Given the description of an element on the screen output the (x, y) to click on. 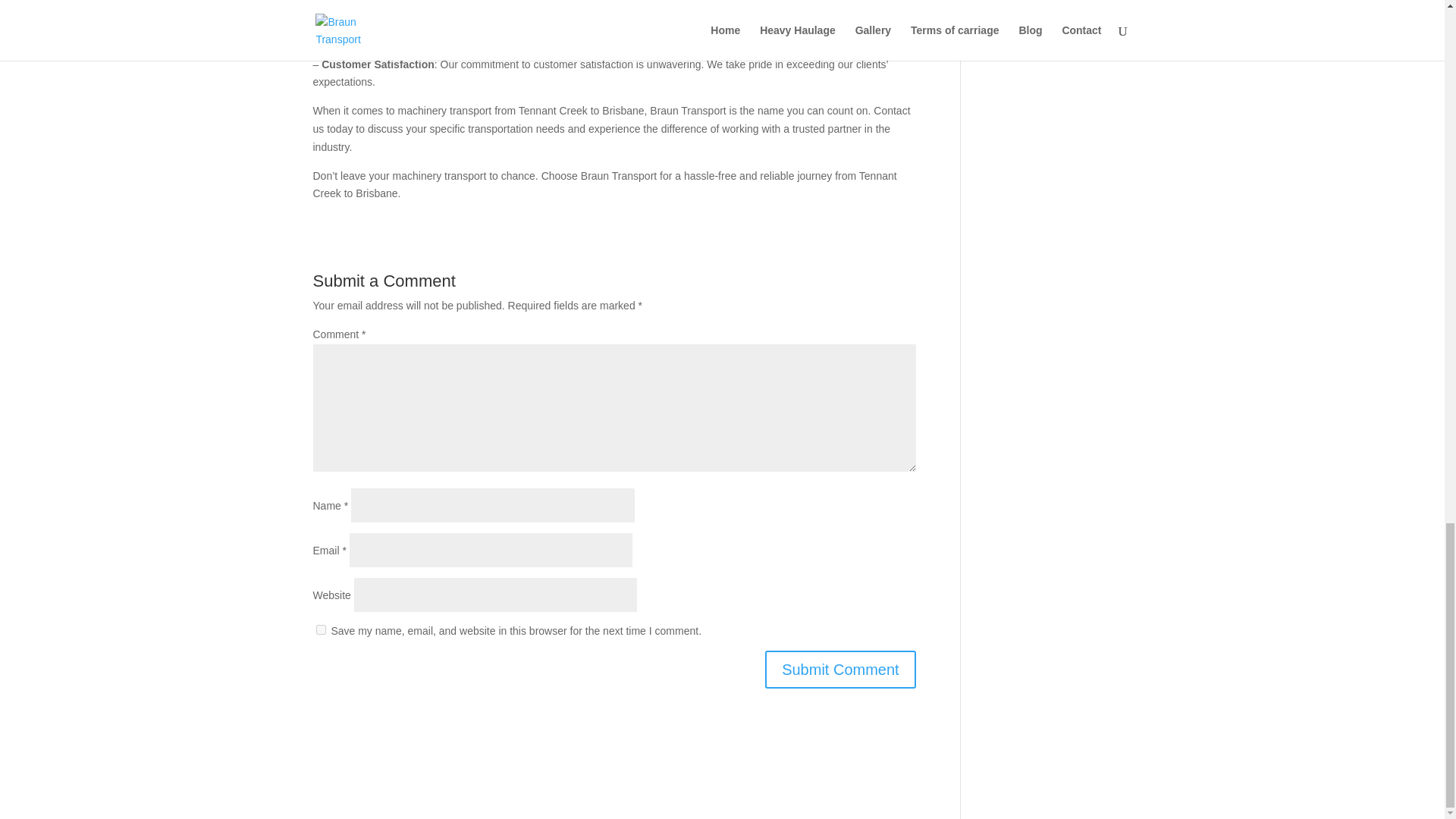
Submit Comment (840, 669)
Submit Comment (840, 669)
yes (319, 629)
